Given the description of an element on the screen output the (x, y) to click on. 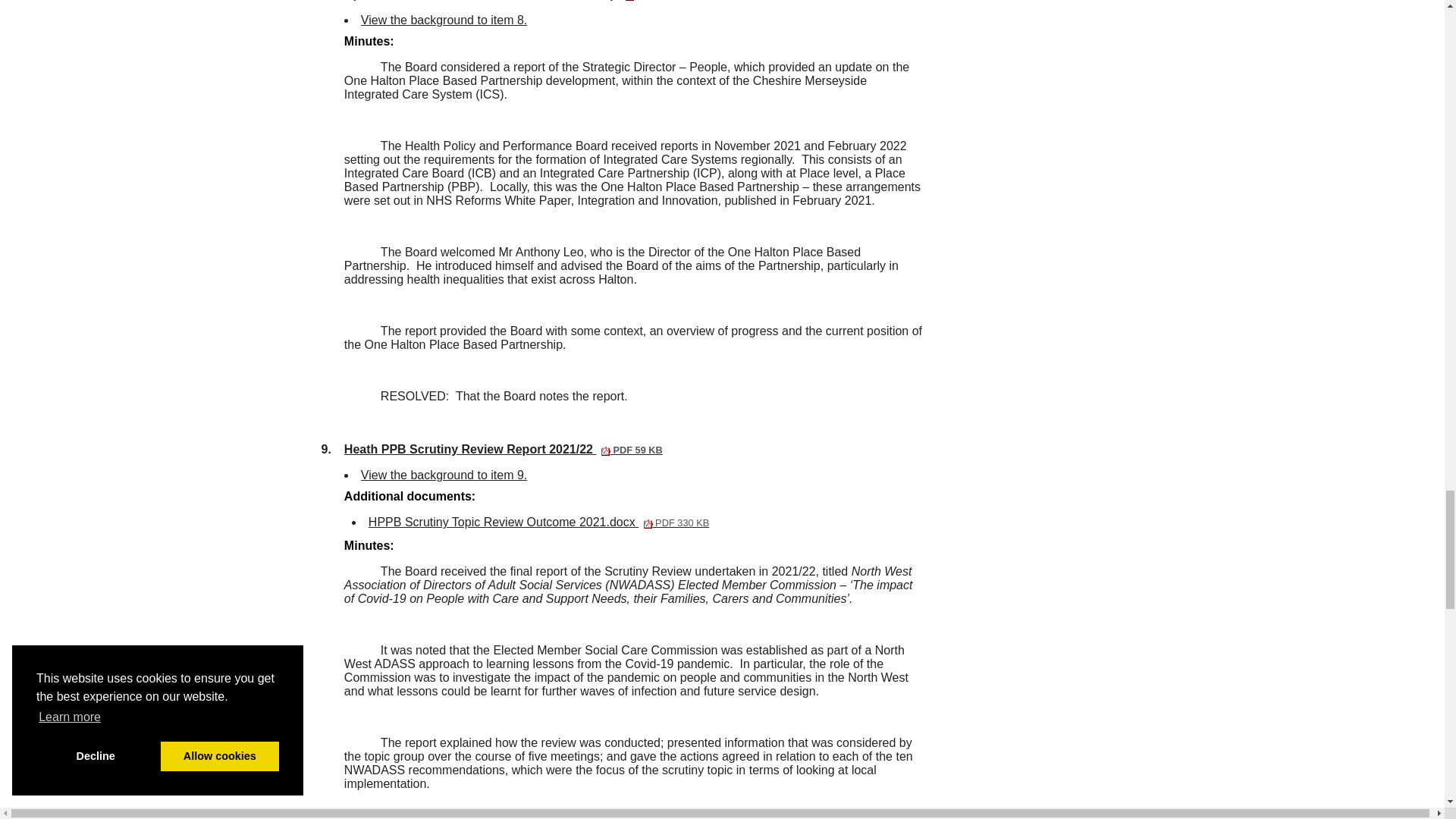
View the background to item 8. (444, 19)
